Given the description of an element on the screen output the (x, y) to click on. 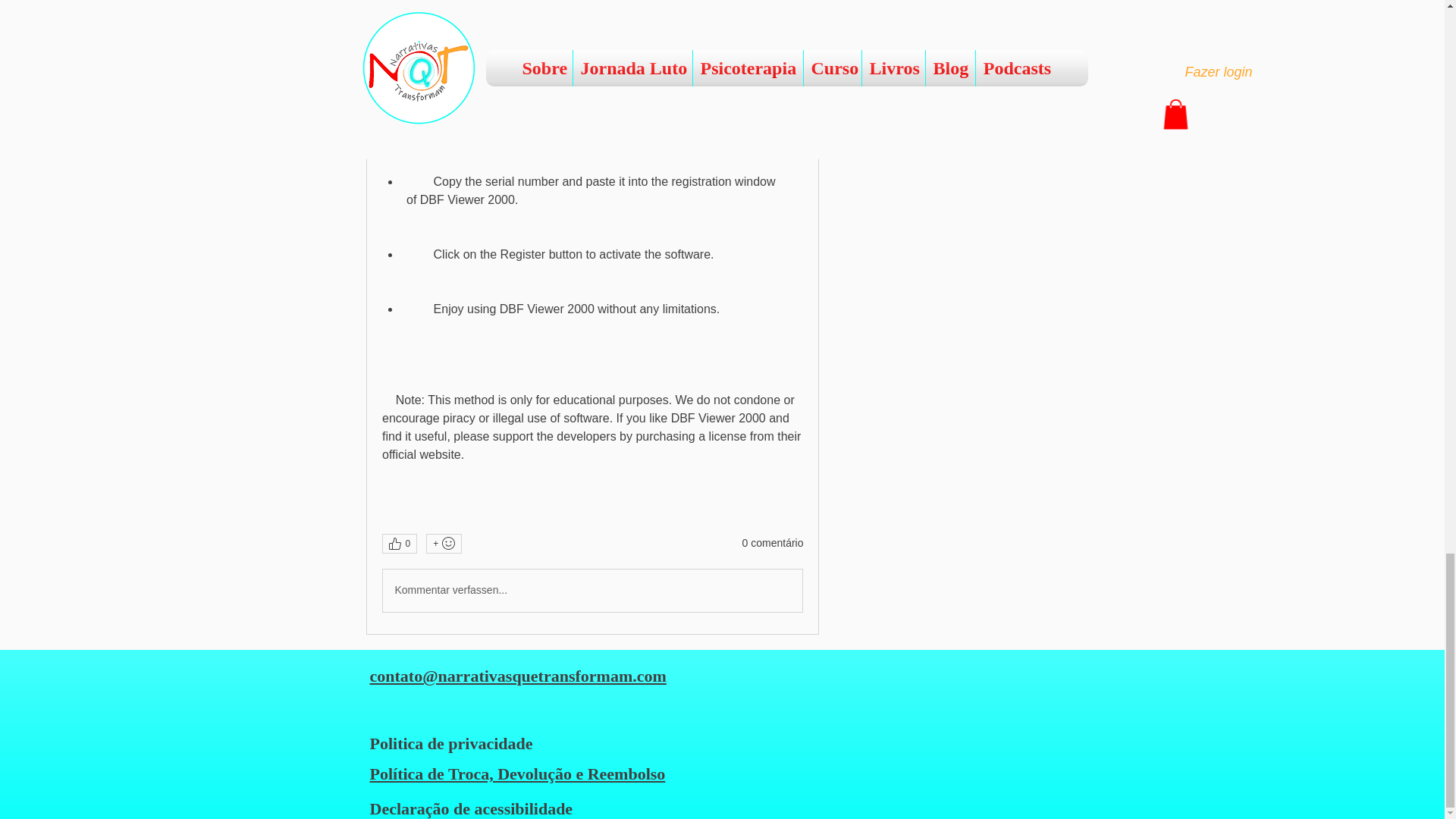
Kommentar verfassen... (591, 590)
Politica de privacidade (450, 742)
